Given the description of an element on the screen output the (x, y) to click on. 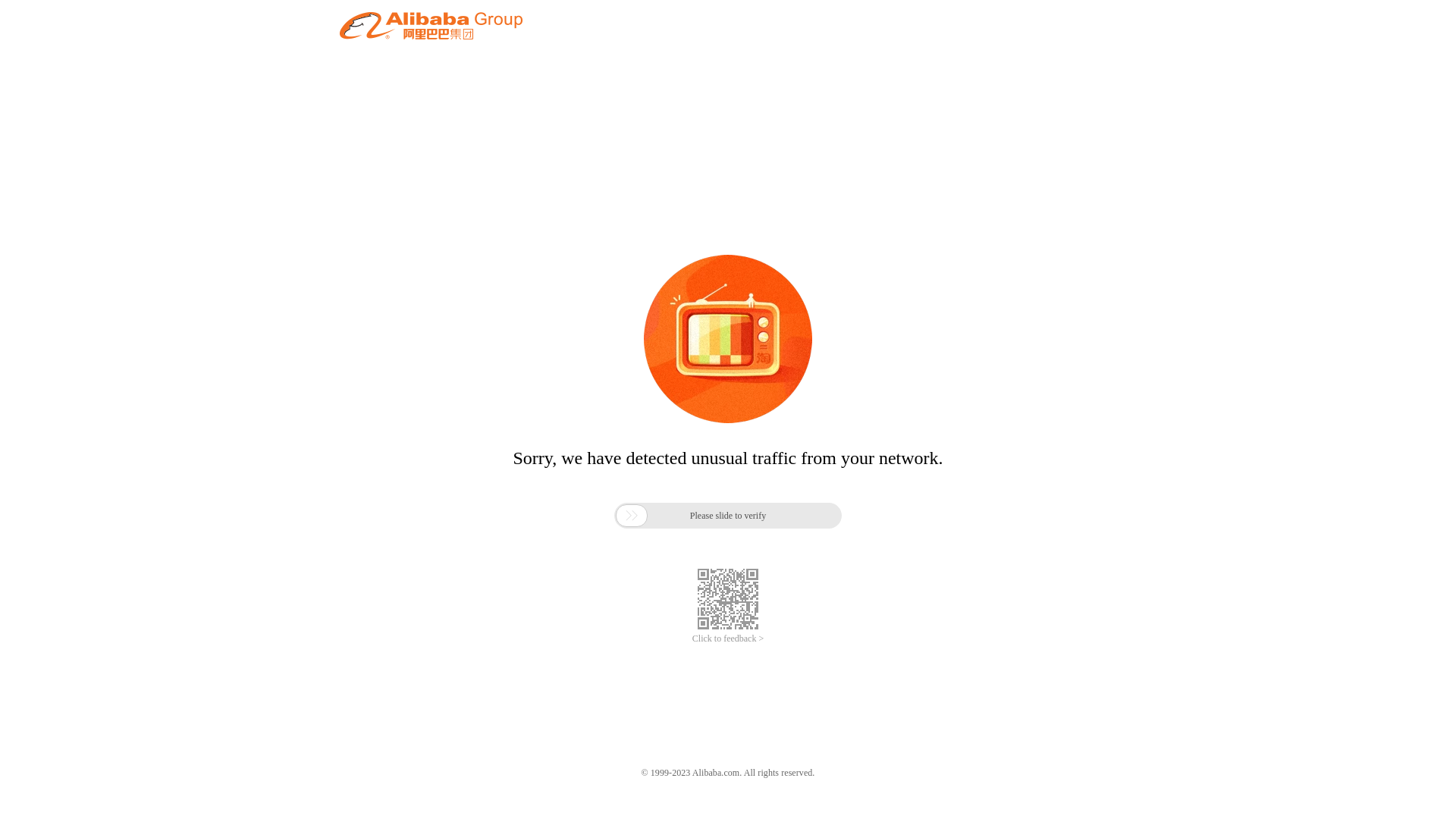
Click to feedback > Element type: text (727, 638)
